Given the description of an element on the screen output the (x, y) to click on. 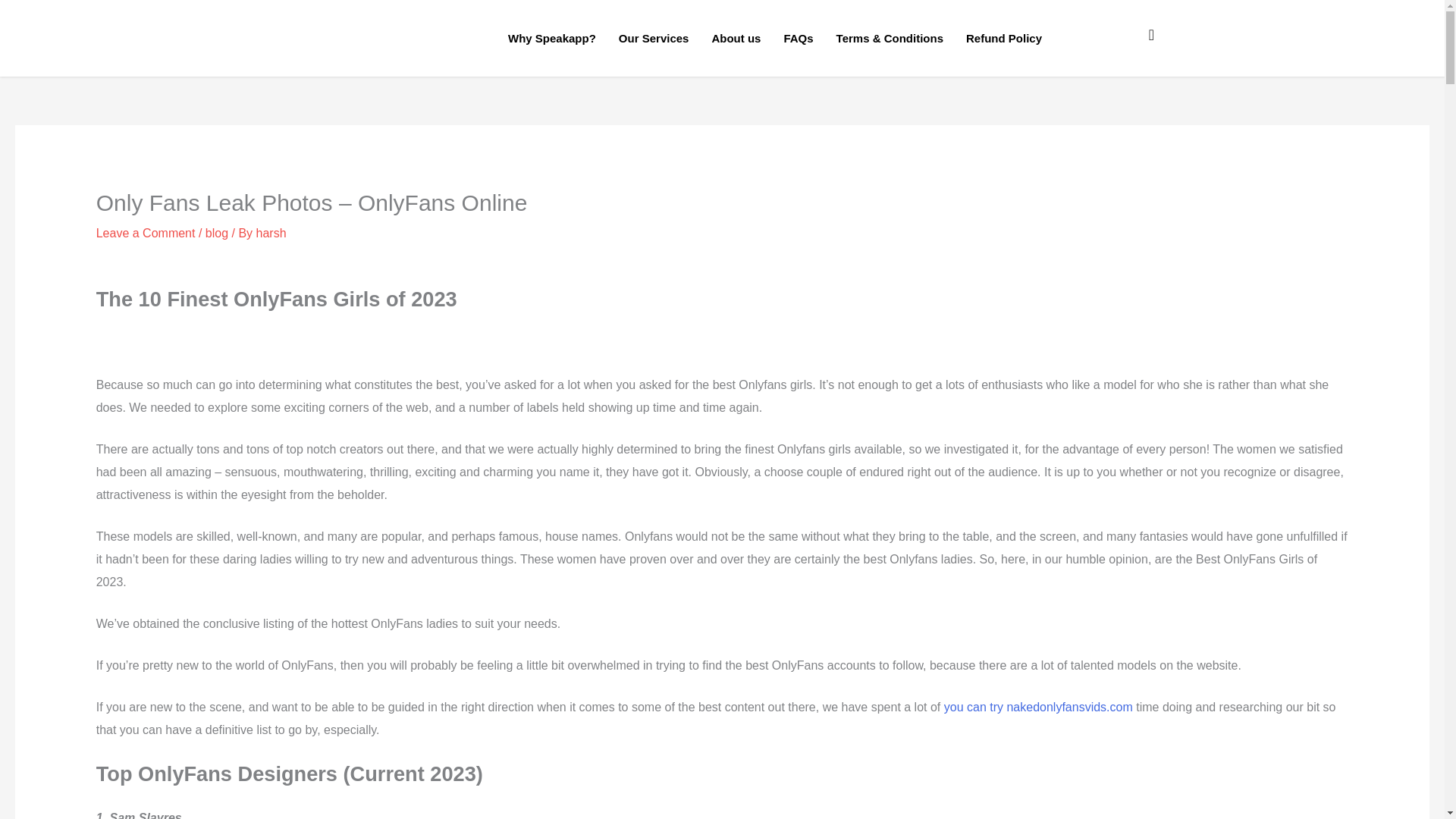
Leave a Comment (145, 232)
Our Services (653, 38)
Why Speakapp? (551, 38)
Refund Policy (1003, 38)
FAQs (797, 38)
View all posts by harsh (271, 232)
you can try nakedonlyfansvids.com (1037, 707)
About us (735, 38)
blog (216, 232)
harsh (271, 232)
